Given the description of an element on the screen output the (x, y) to click on. 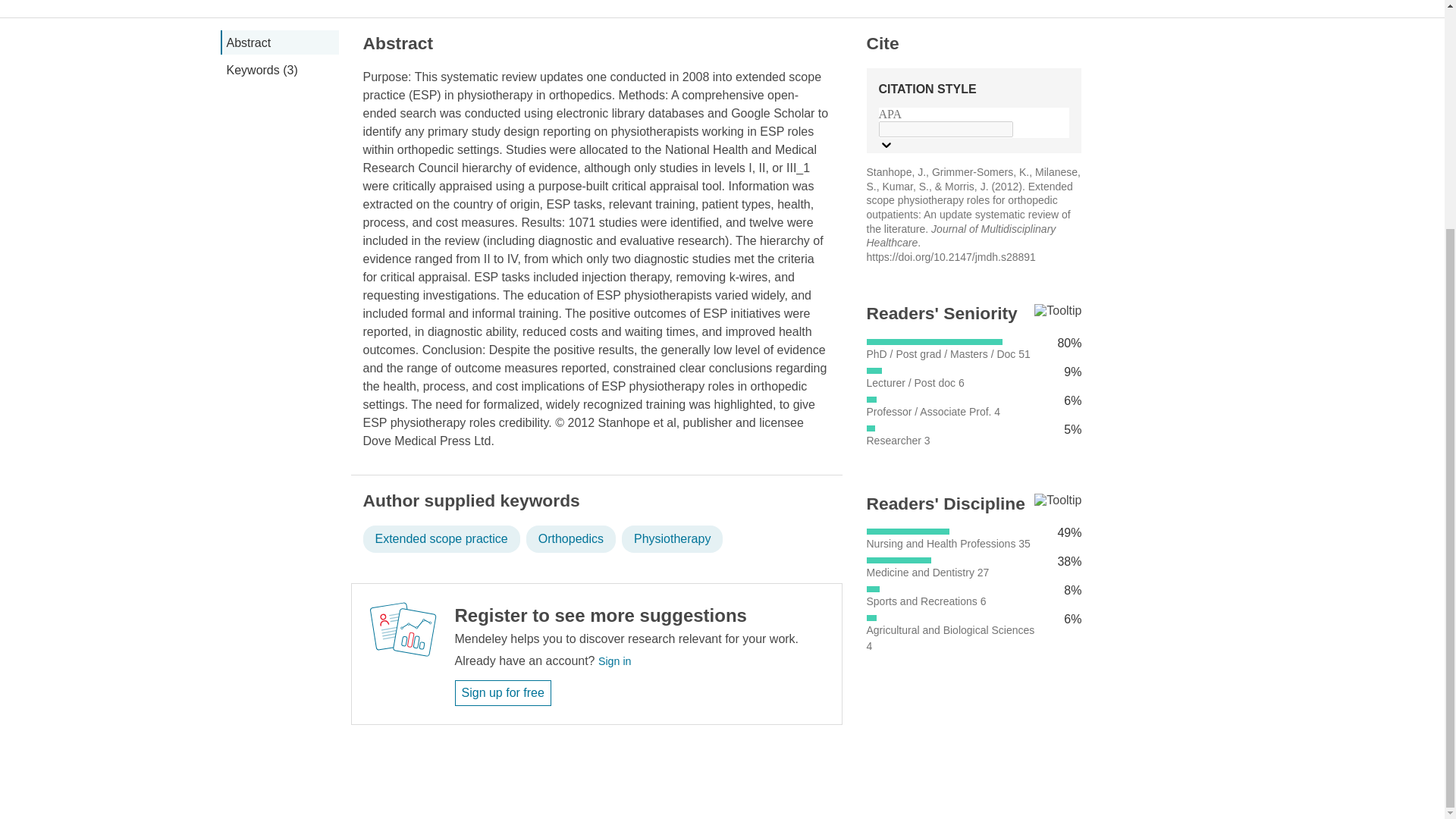
Physiotherapy (671, 538)
Abstract (278, 42)
Extended scope practice (440, 538)
Sign up for free (502, 692)
Sign in (614, 661)
Orthopedics (570, 538)
